Given the description of an element on the screen output the (x, y) to click on. 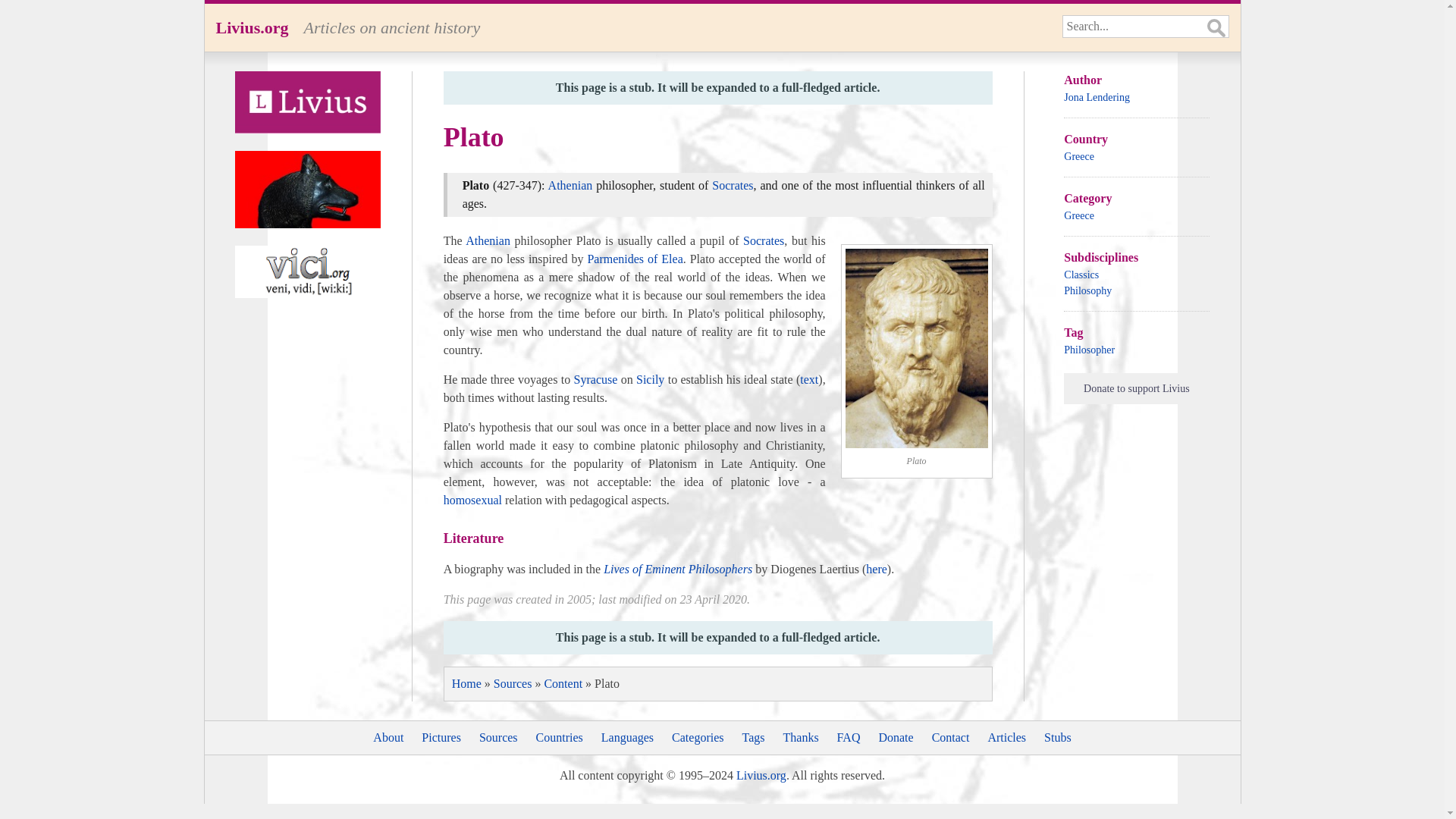
Sources (498, 737)
homosexual (473, 499)
Livius.org (251, 27)
Contact (950, 737)
Countries (559, 737)
Content (562, 683)
Pictures (441, 737)
Home (466, 683)
Parmenides of Elea (634, 258)
Sources (512, 683)
Socrates (763, 240)
Athenian (488, 240)
Thanks (800, 737)
FAQ (848, 737)
Donate (894, 737)
